Given the description of an element on the screen output the (x, y) to click on. 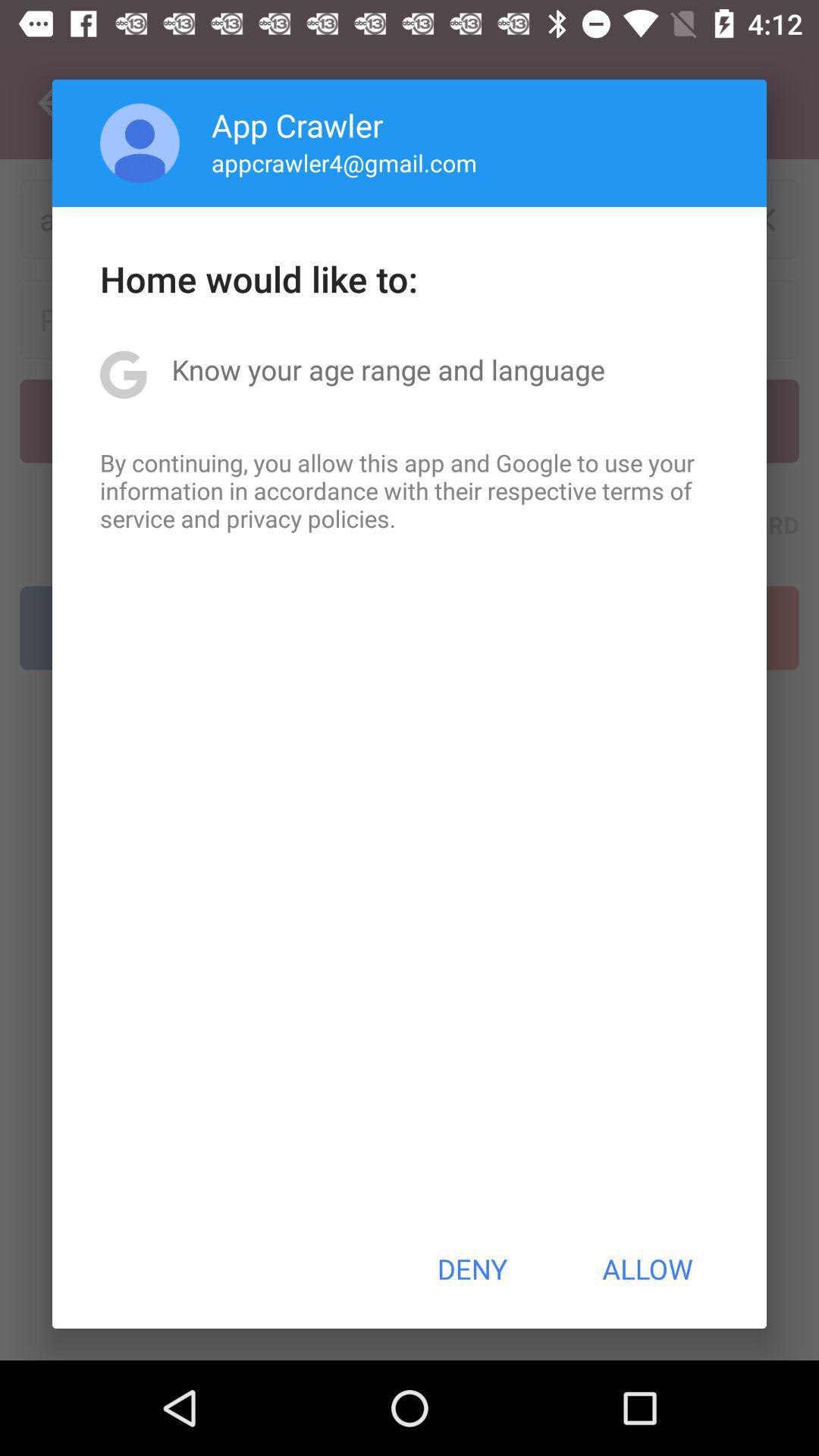
swipe until appcrawler4@gmail.com (344, 162)
